Given the description of an element on the screen output the (x, y) to click on. 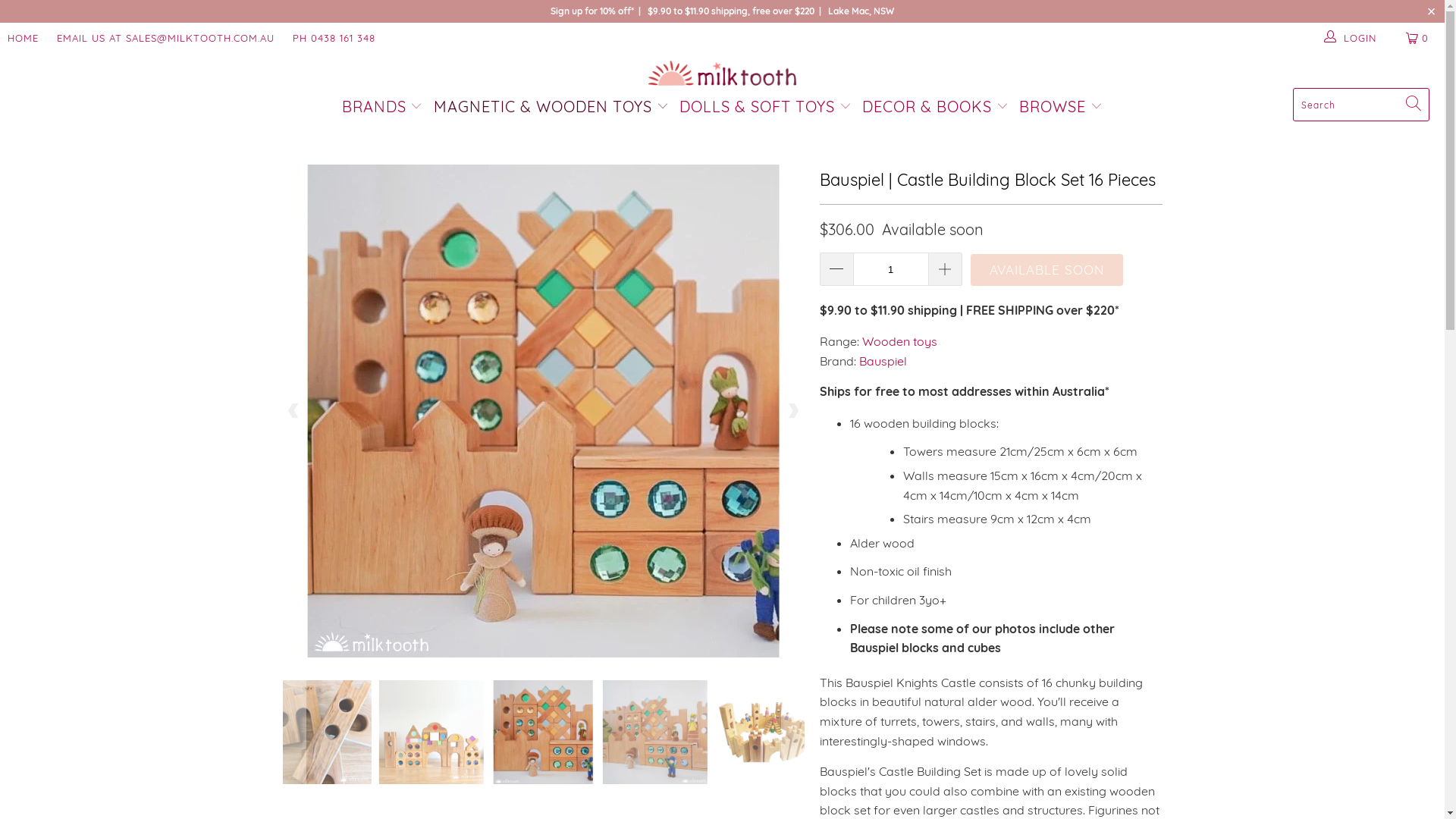
DECOR & BOOKS Element type: text (935, 106)
HOME Element type: text (22, 37)
MAGNETIC & WOODEN TOYS Element type: text (550, 106)
BRANDS Element type: text (382, 106)
BROWSE Element type: text (1060, 106)
Milk Tooth Element type: hover (722, 73)
Bauspiel Element type: text (882, 360)
EMAIL US AT SALES@MILKTOOTH.COM.AU Element type: text (165, 37)
0 Element type: text (1417, 37)
Wooden toys Element type: text (898, 340)
AVAILABLE SOON Element type: text (1046, 269)
PH 0438 161 348 Element type: text (333, 37)
DOLLS & SOFT TOYS Element type: text (765, 106)
LOGIN Element type: text (1351, 37)
